Given the description of an element on the screen output the (x, y) to click on. 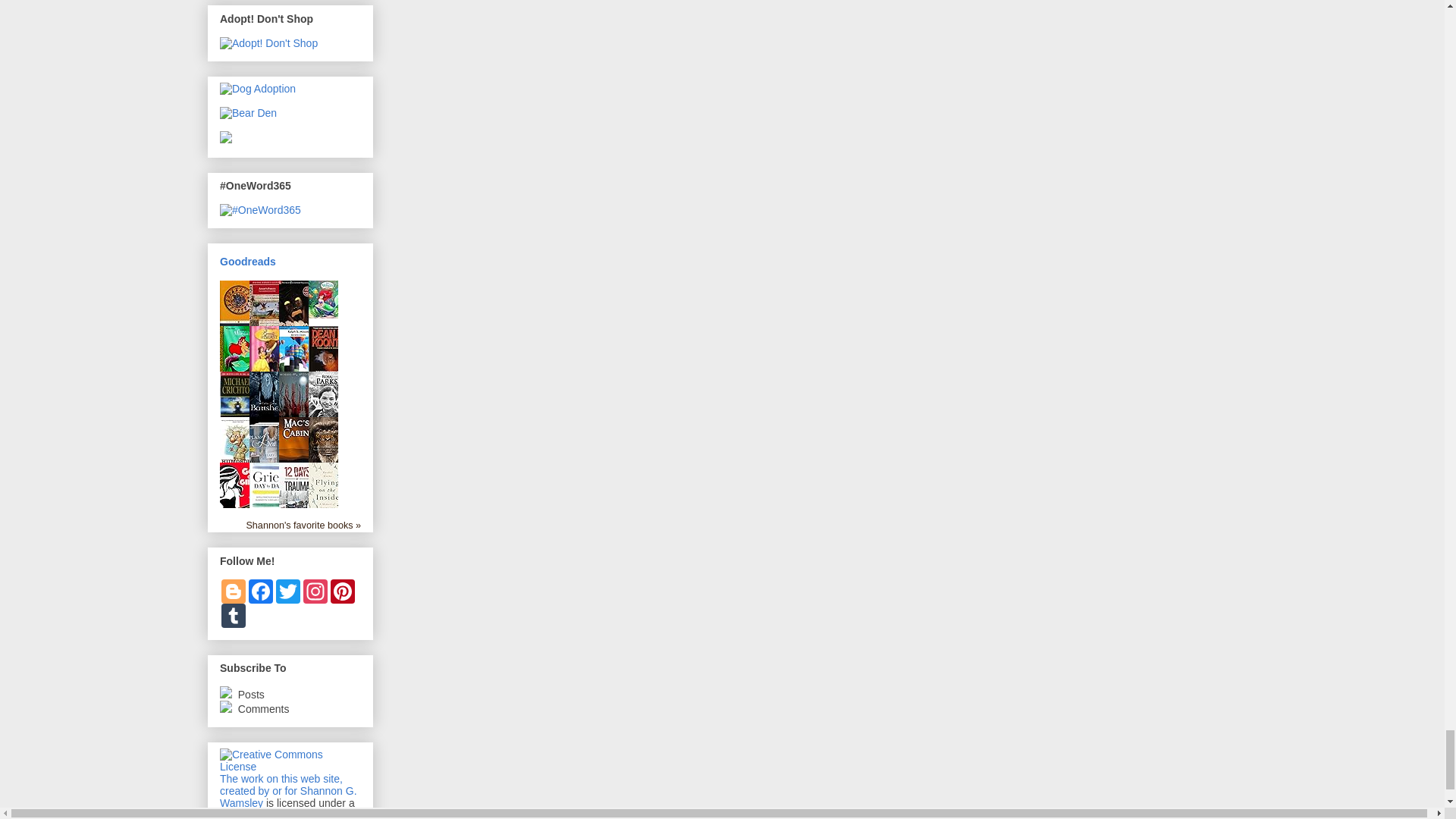
Aesop's Fables (266, 333)
The Odyssey (238, 333)
